Given the description of an element on the screen output the (x, y) to click on. 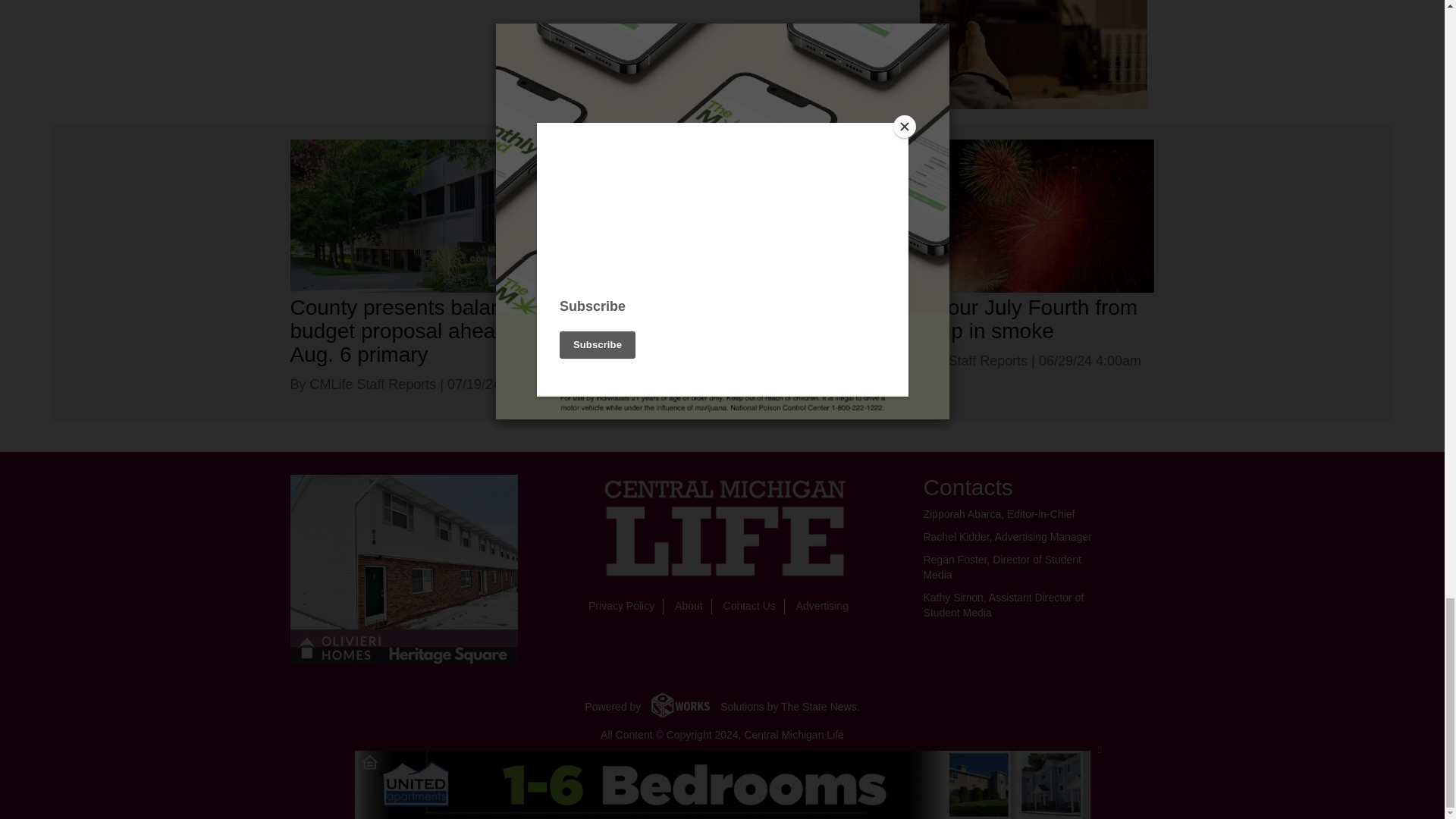
OM-HOUSING.COM (402, 569)
